Given the description of an element on the screen output the (x, y) to click on. 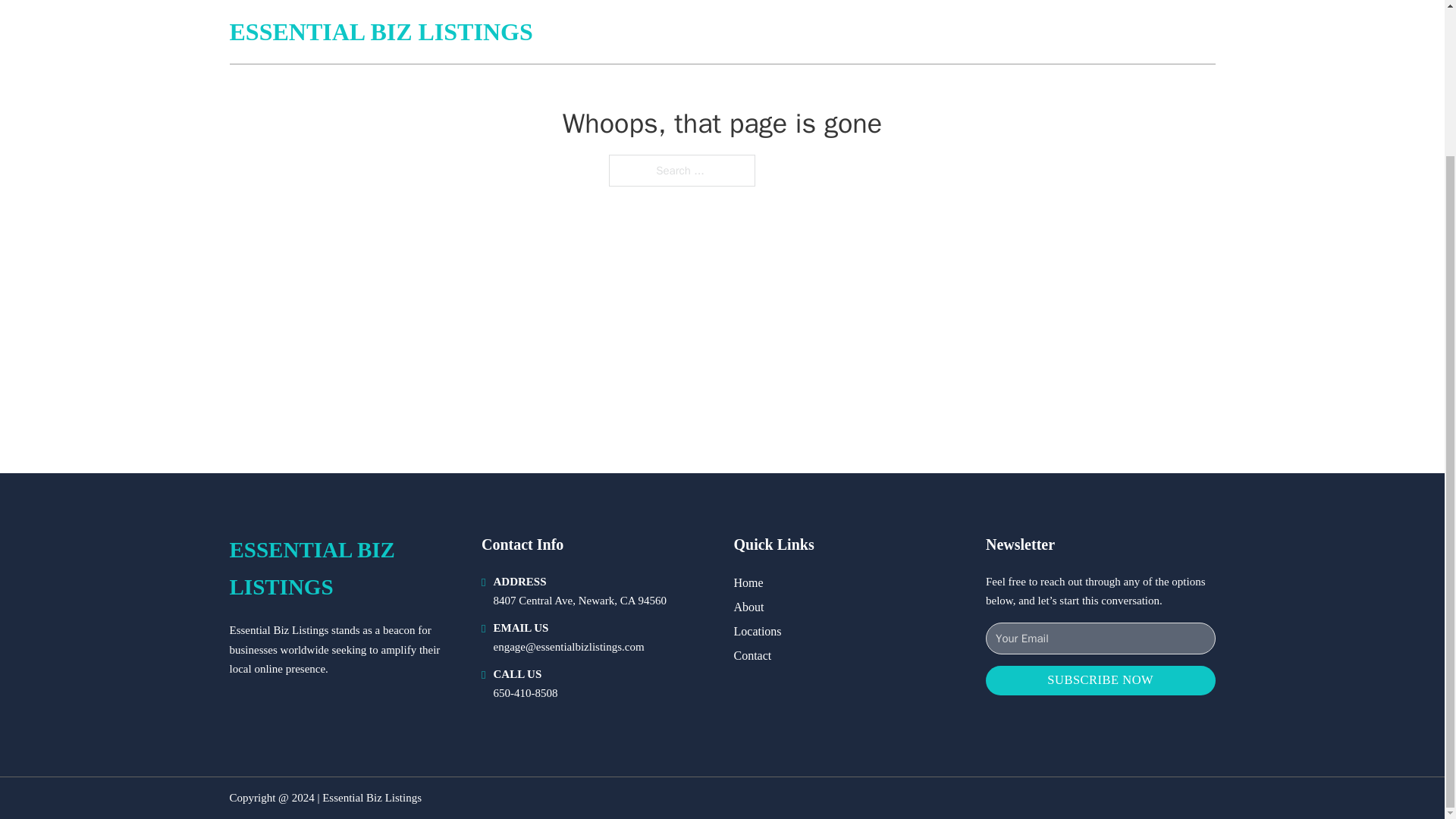
Home (747, 582)
Locations (757, 630)
ESSENTIAL BIZ LISTINGS (343, 568)
650-410-8508 (525, 693)
About (748, 607)
Contact (752, 655)
SUBSCRIBE NOW (1100, 680)
